Given the description of an element on the screen output the (x, y) to click on. 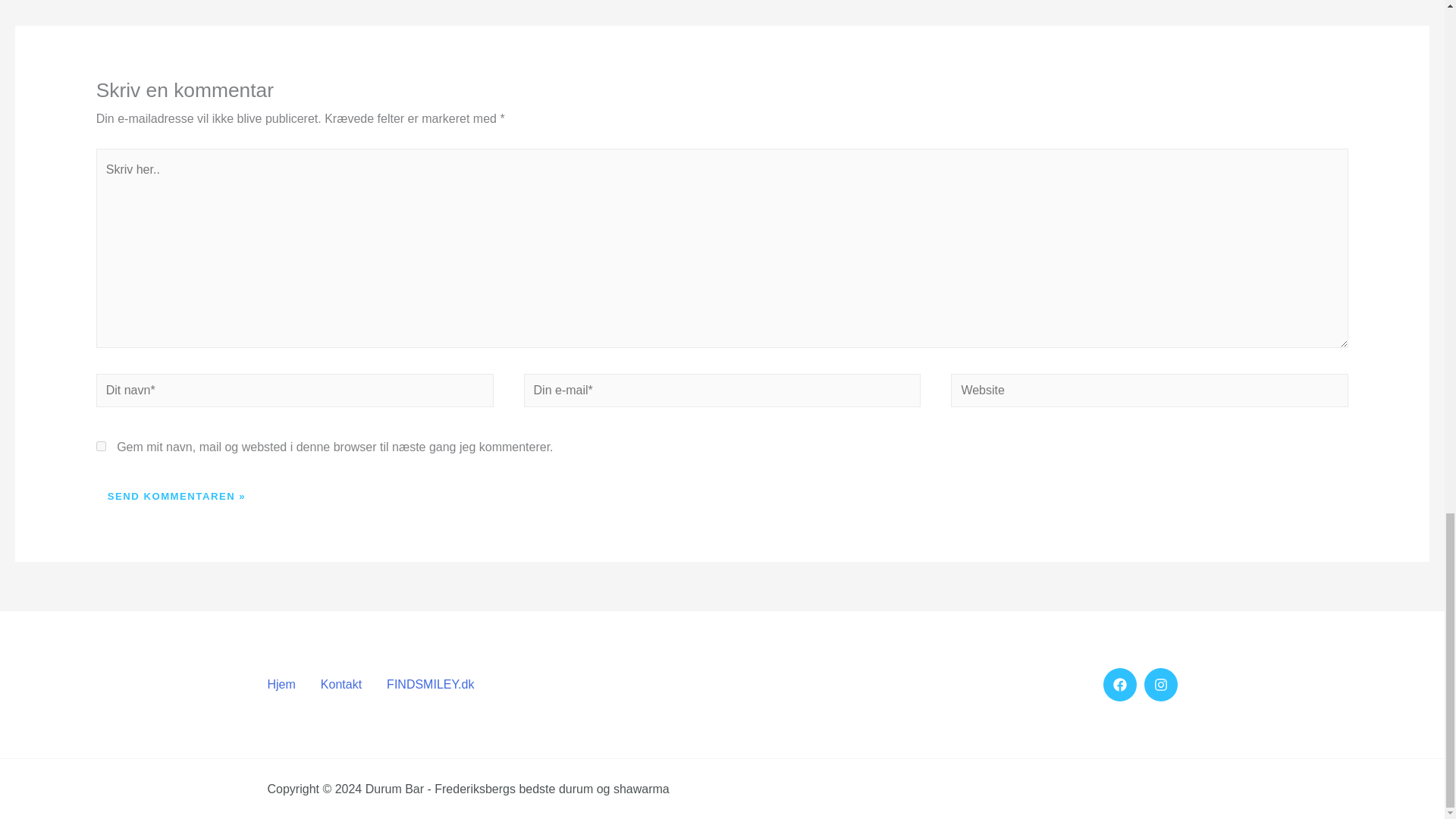
Kontakt (347, 684)
Hjem (290, 684)
FINDSMILEY.dk (436, 684)
yes (101, 446)
